Given the description of an element on the screen output the (x, y) to click on. 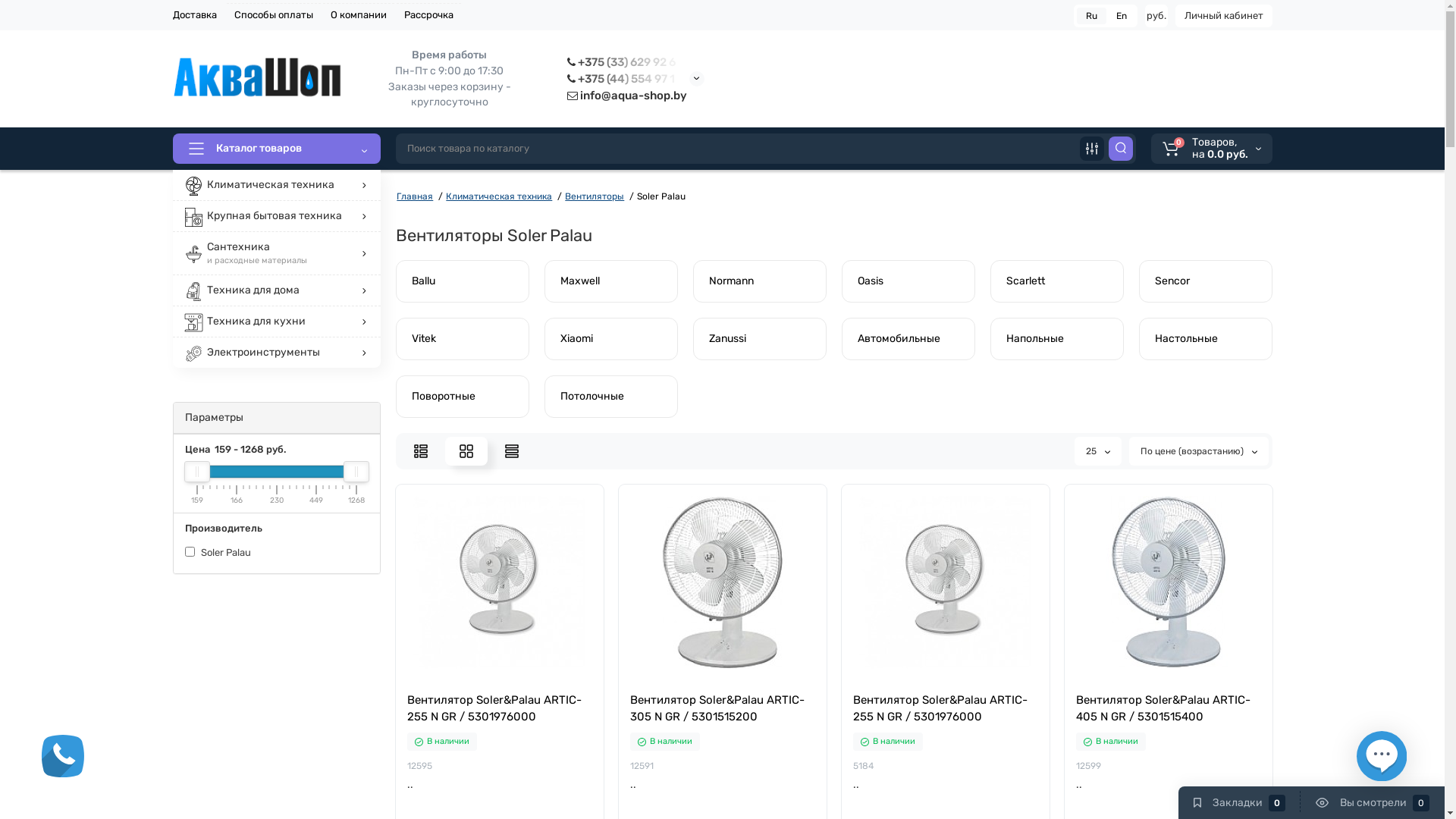
Xiaomi Element type: text (610, 338)
+375 (44) 554 97 1 Element type: text (624, 78)
+375 (33) 629 92 6 Element type: text (624, 62)
Oasis Element type: text (907, 281)
Vitek Element type: text (461, 338)
Ballu Element type: text (461, 281)
Normann Element type: text (758, 281)
En Element type: text (1121, 15)
Zanussi Element type: text (758, 338)
Sencor Element type: text (1204, 281)
Scarlett Element type: text (1055, 281)
25 Element type: text (1096, 450)
Maxwell Element type: text (610, 281)
